Given the description of an element on the screen output the (x, y) to click on. 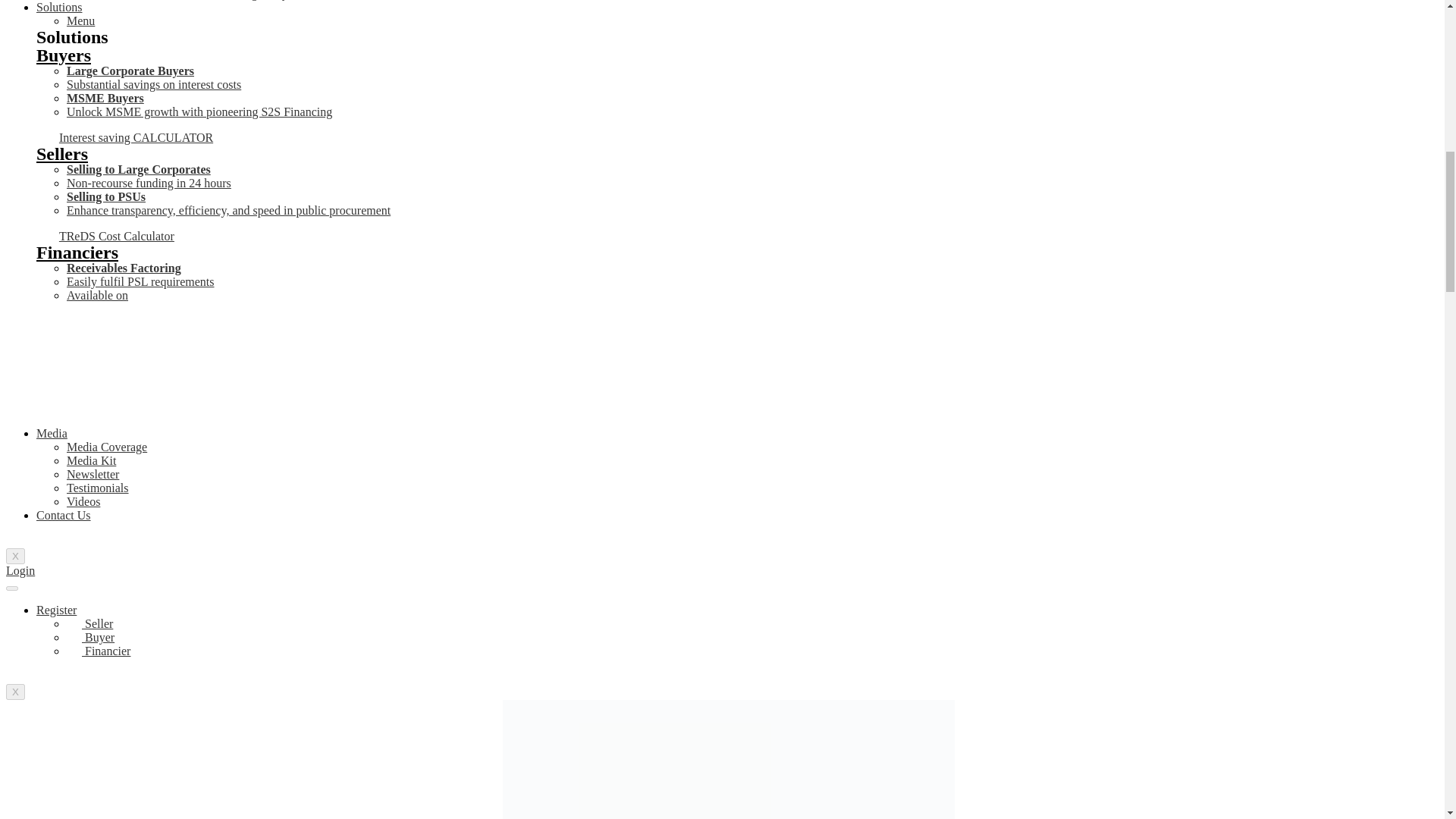
Buyers (63, 55)
Substantial savings on interest costs (153, 83)
Large Corporate Buyers (129, 70)
Solutions (58, 6)
Unlock MSME growth with pioneering S2S Financing (198, 111)
MSME Buyers (105, 97)
Menu (80, 20)
